Given the description of an element on the screen output the (x, y) to click on. 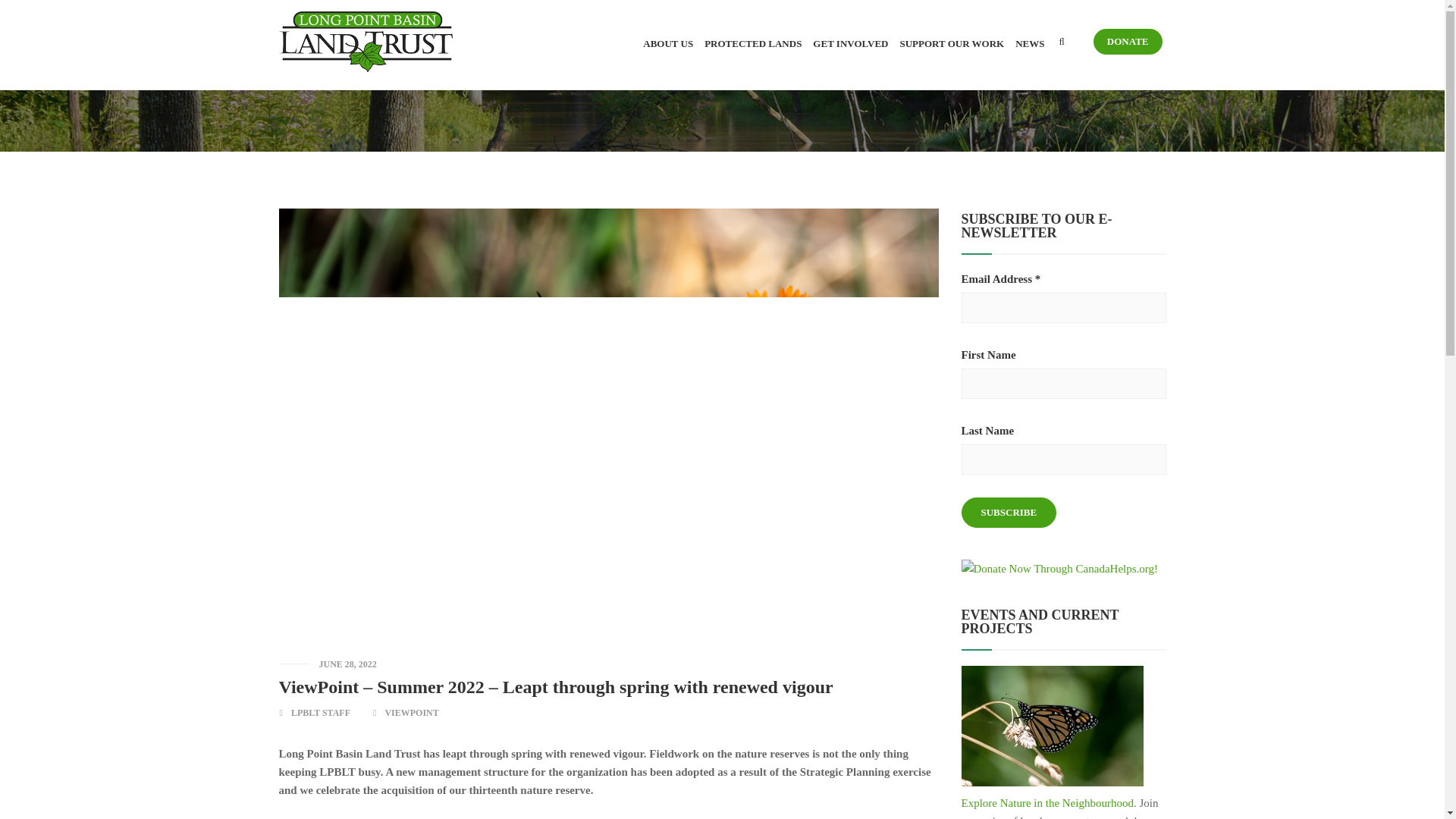
Subscribe (1008, 512)
ABOUT US (662, 42)
PROTECTED LANDS (747, 42)
Home (1070, 75)
GET INVOLVED (845, 42)
